Given the description of an element on the screen output the (x, y) to click on. 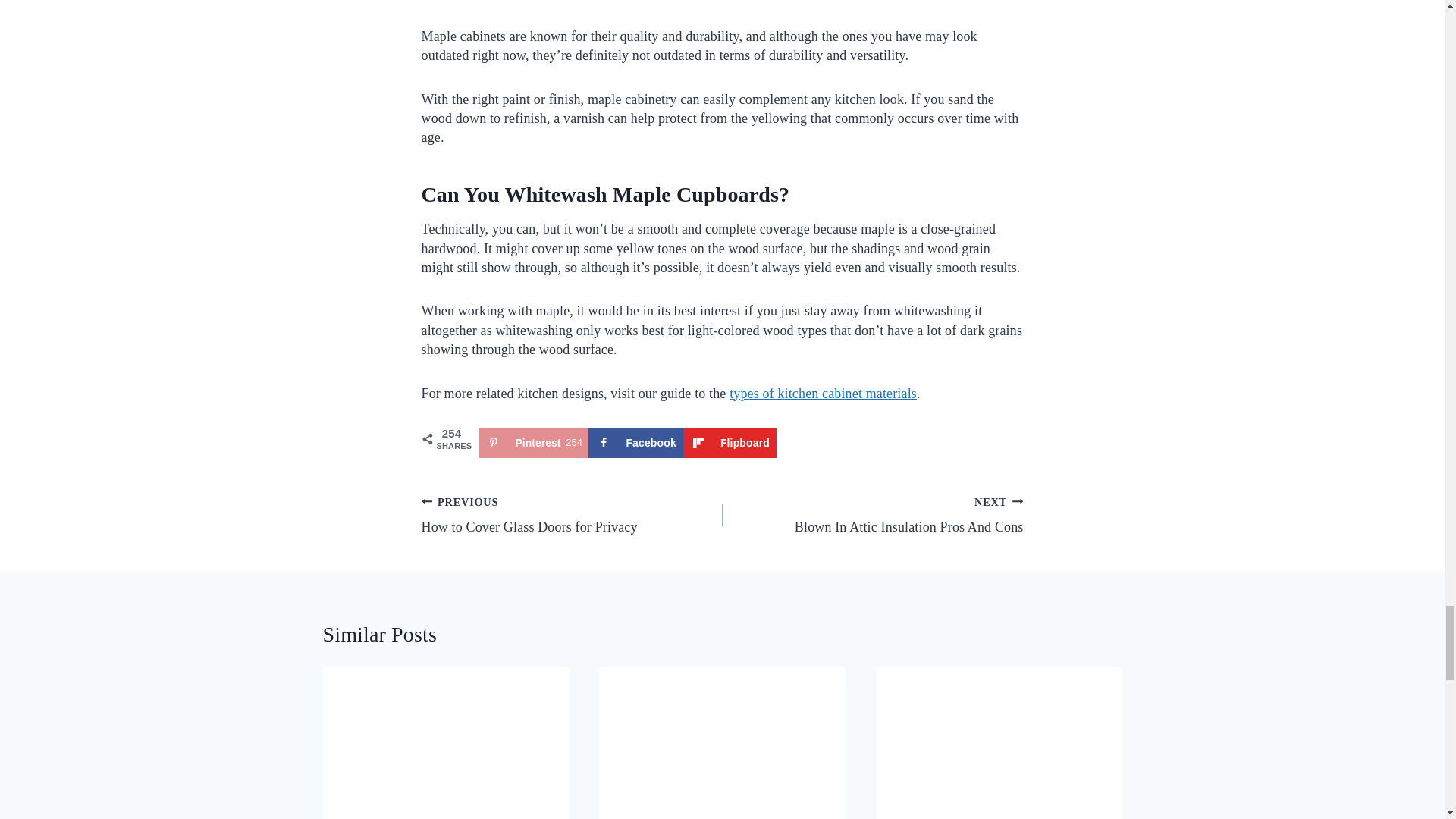
Share on Flipboard (729, 442)
Share on Facebook (635, 442)
Save to Pinterest (532, 442)
